Given the description of an element on the screen output the (x, y) to click on. 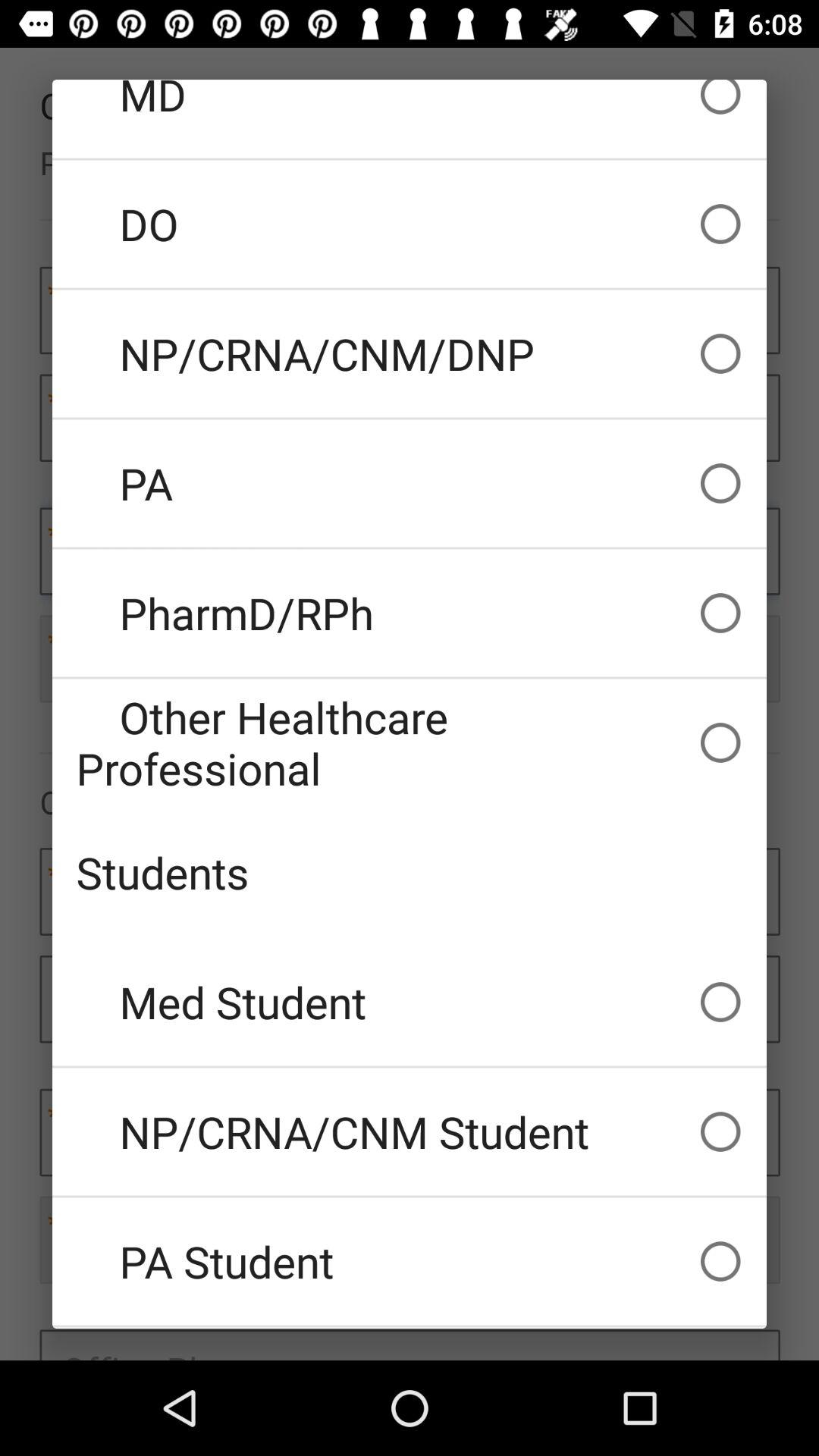
select the     do icon (409, 223)
